Given the description of an element on the screen output the (x, y) to click on. 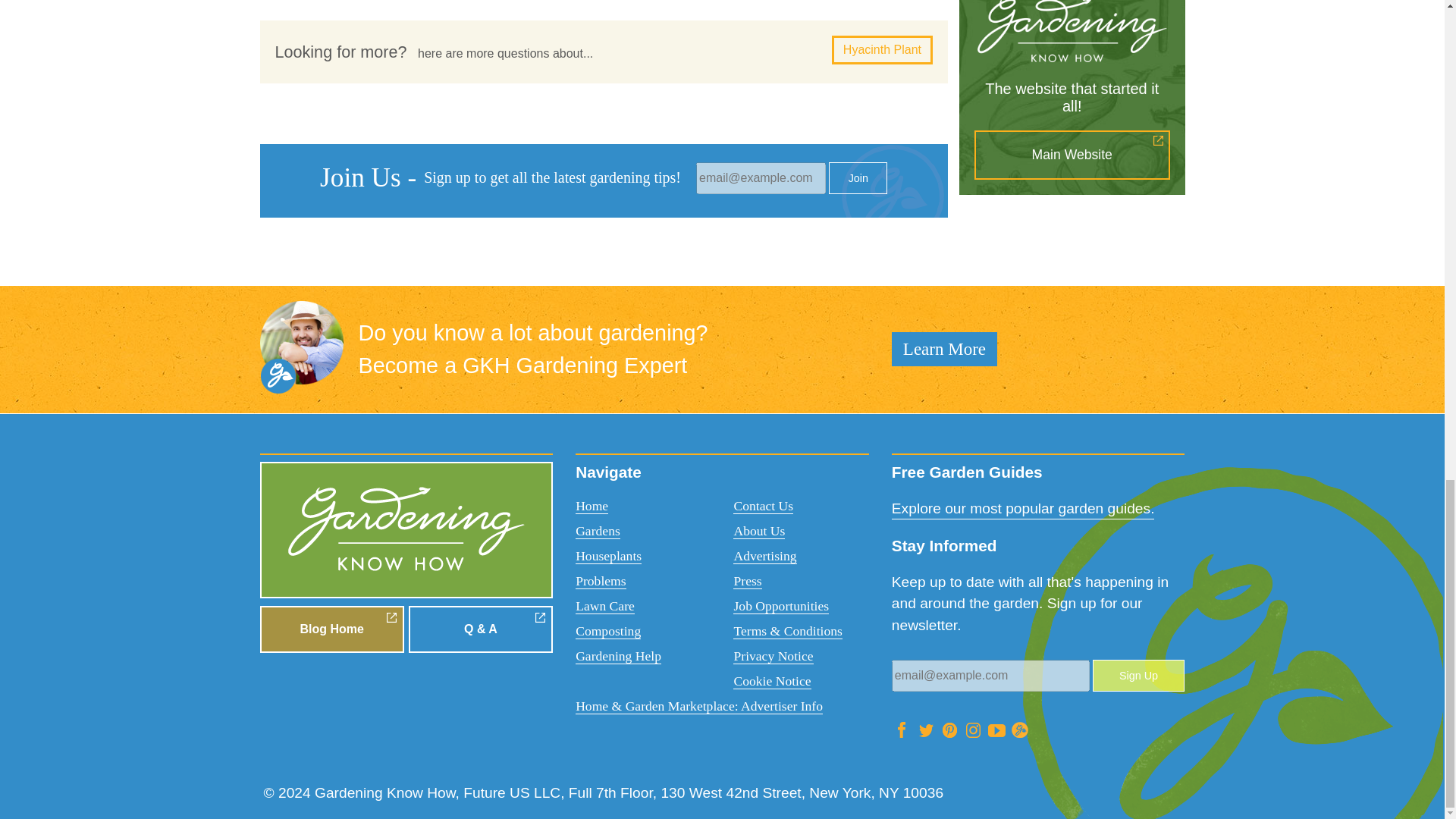
Hyacinth Plant (882, 50)
Join (857, 178)
